Given the description of an element on the screen output the (x, y) to click on. 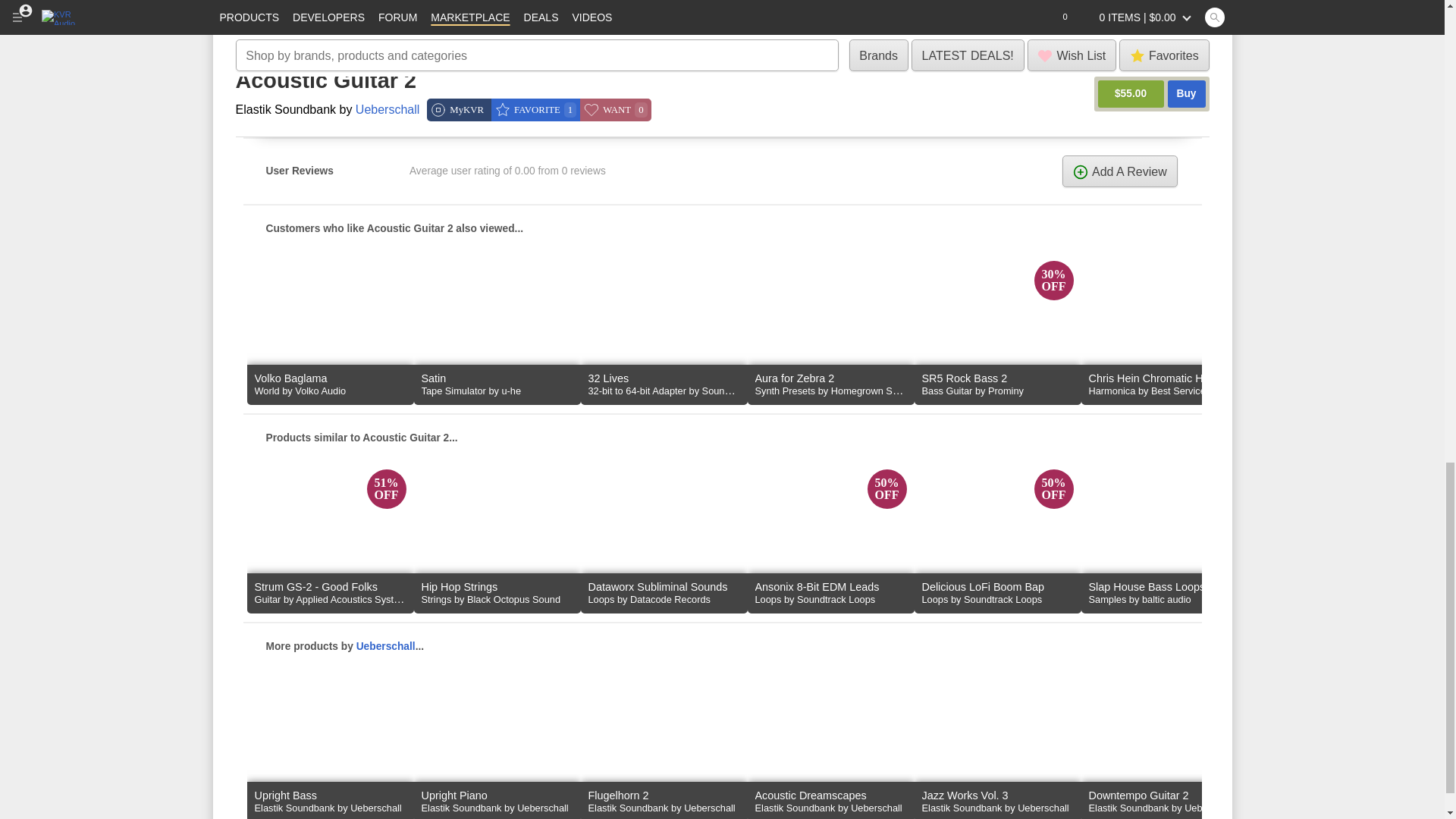
Products similar to Acoustic Guitar 2... (722, 437)
More products by Ueberschall... (722, 645)
Customers who like Acoustic Guitar 2 also viewed... (722, 227)
